Given the description of an element on the screen output the (x, y) to click on. 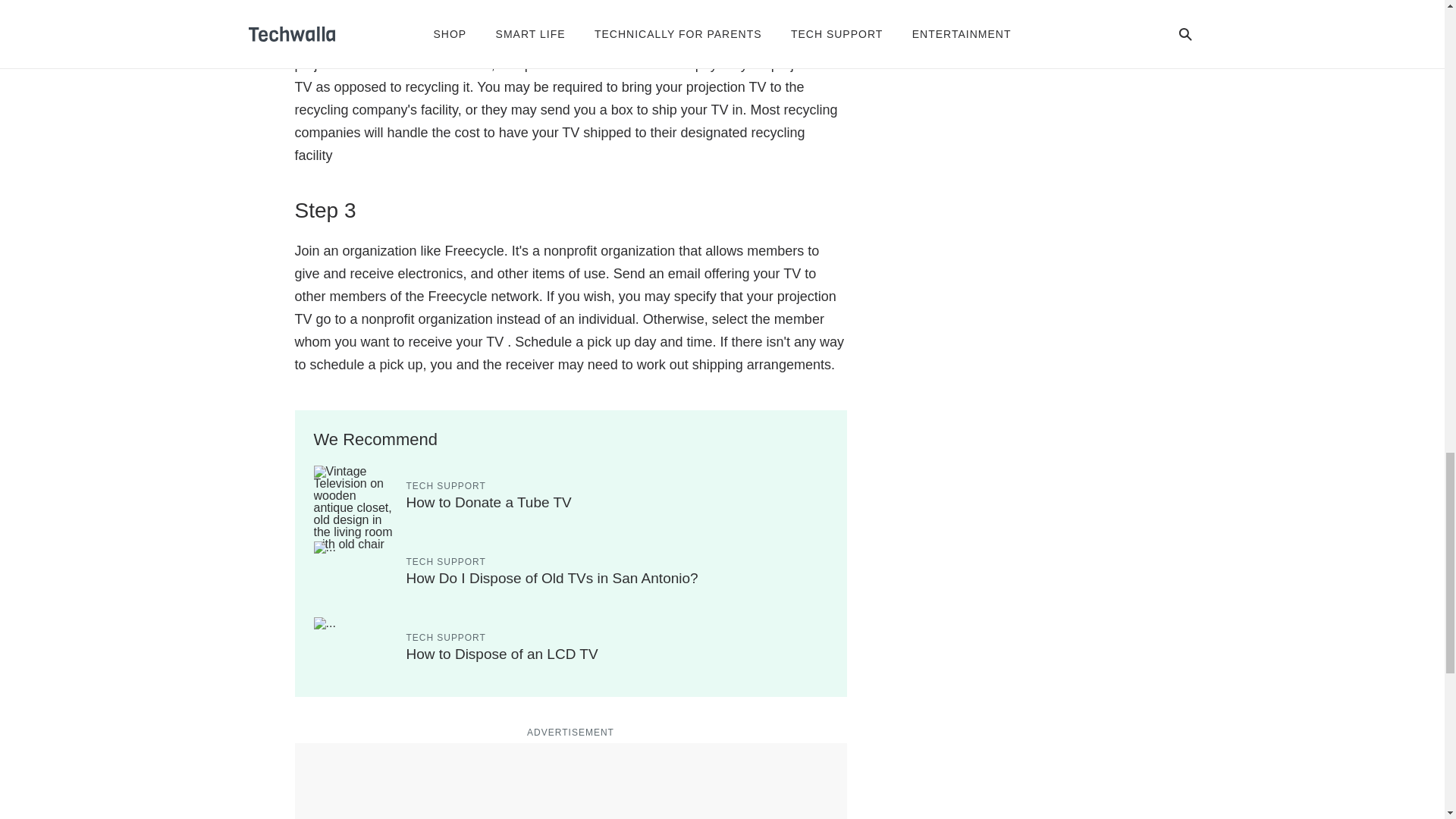
How to Dispose of an LCD TV (502, 653)
How Do I Dispose of Old TVs in San Antonio? (552, 578)
How to Donate a Tube TV (489, 502)
